Given the description of an element on the screen output the (x, y) to click on. 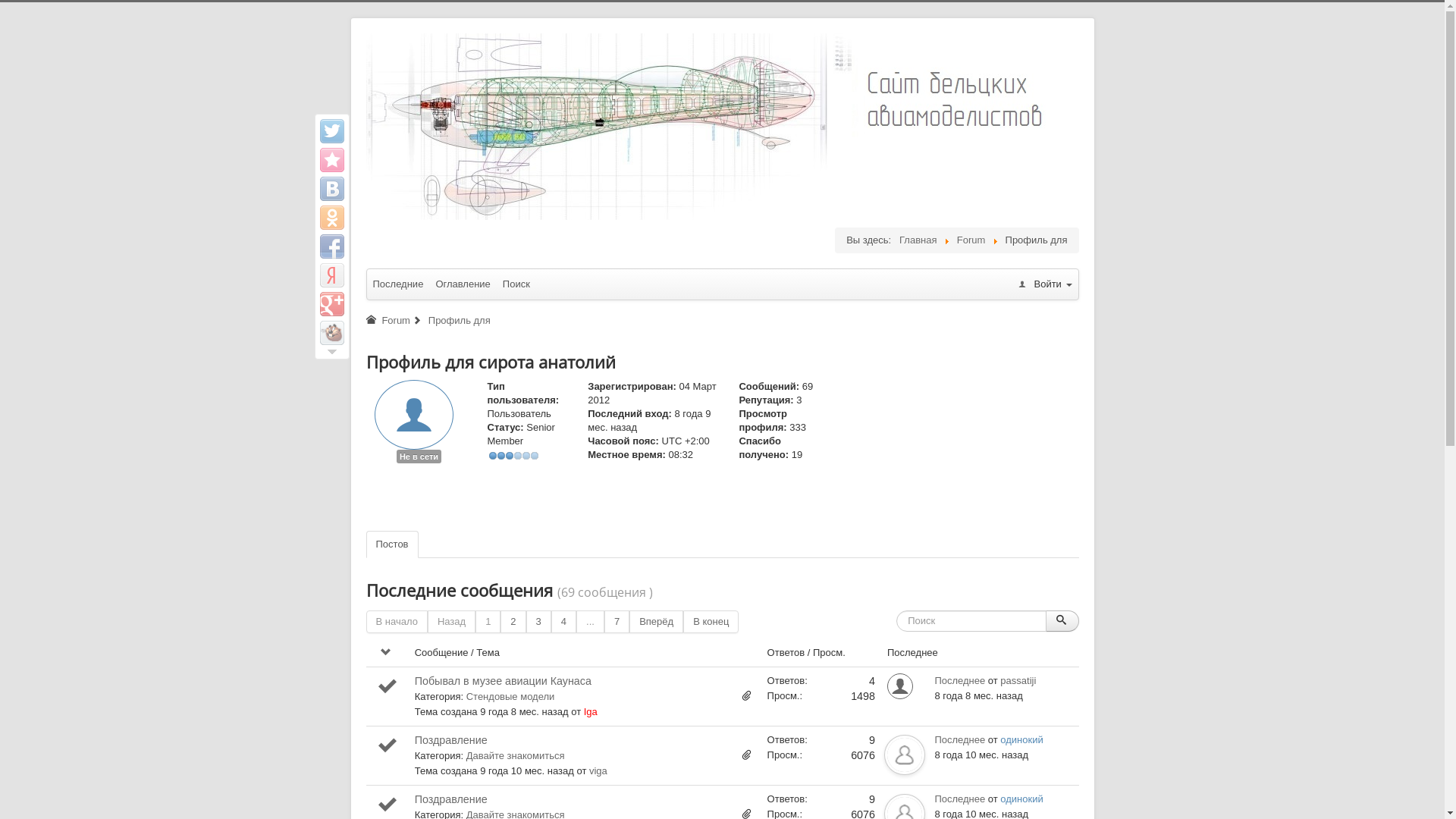
... Element type: text (590, 621)
Forum Element type: text (971, 239)
7 Element type: text (616, 621)
Forum Element type: text (395, 320)
Iga Element type: text (590, 711)
4 Element type: text (563, 621)
3 Element type: text (538, 621)
2 Element type: text (512, 621)
1 Element type: text (487, 621)
